Given the description of an element on the screen output the (x, y) to click on. 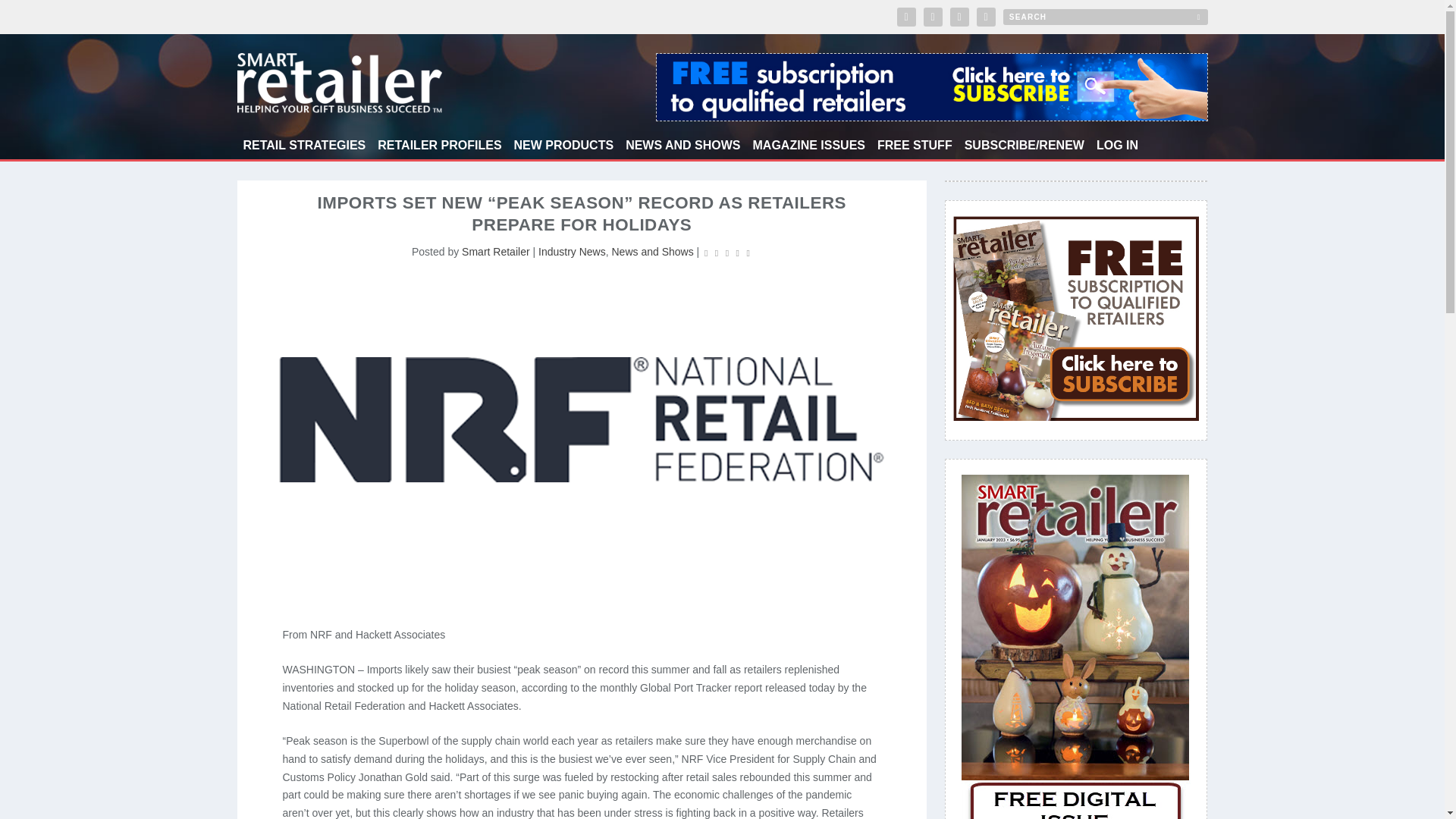
Search for: (1105, 17)
RETAILER PROFILES (438, 148)
MAGAZINE ISSUES (808, 148)
Industry News (571, 251)
Posts by Smart Retailer (495, 251)
Rating: 0.00 (726, 252)
News and Shows (652, 251)
FREE STUFF (914, 148)
NEW PRODUCTS (563, 148)
RETAIL STRATEGIES (304, 148)
